Given the description of an element on the screen output the (x, y) to click on. 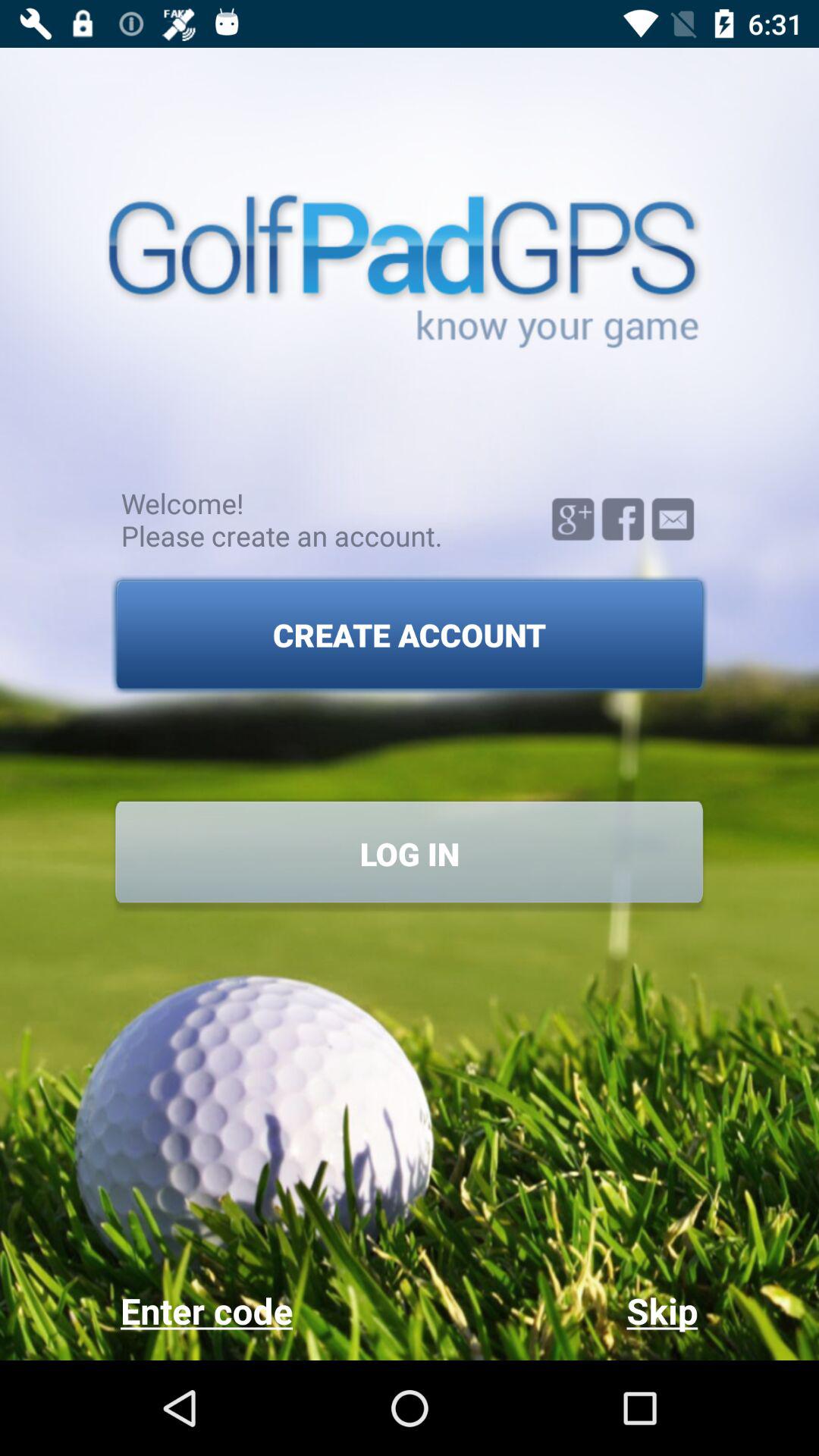
swipe to the skip (552, 1310)
